Given the description of an element on the screen output the (x, y) to click on. 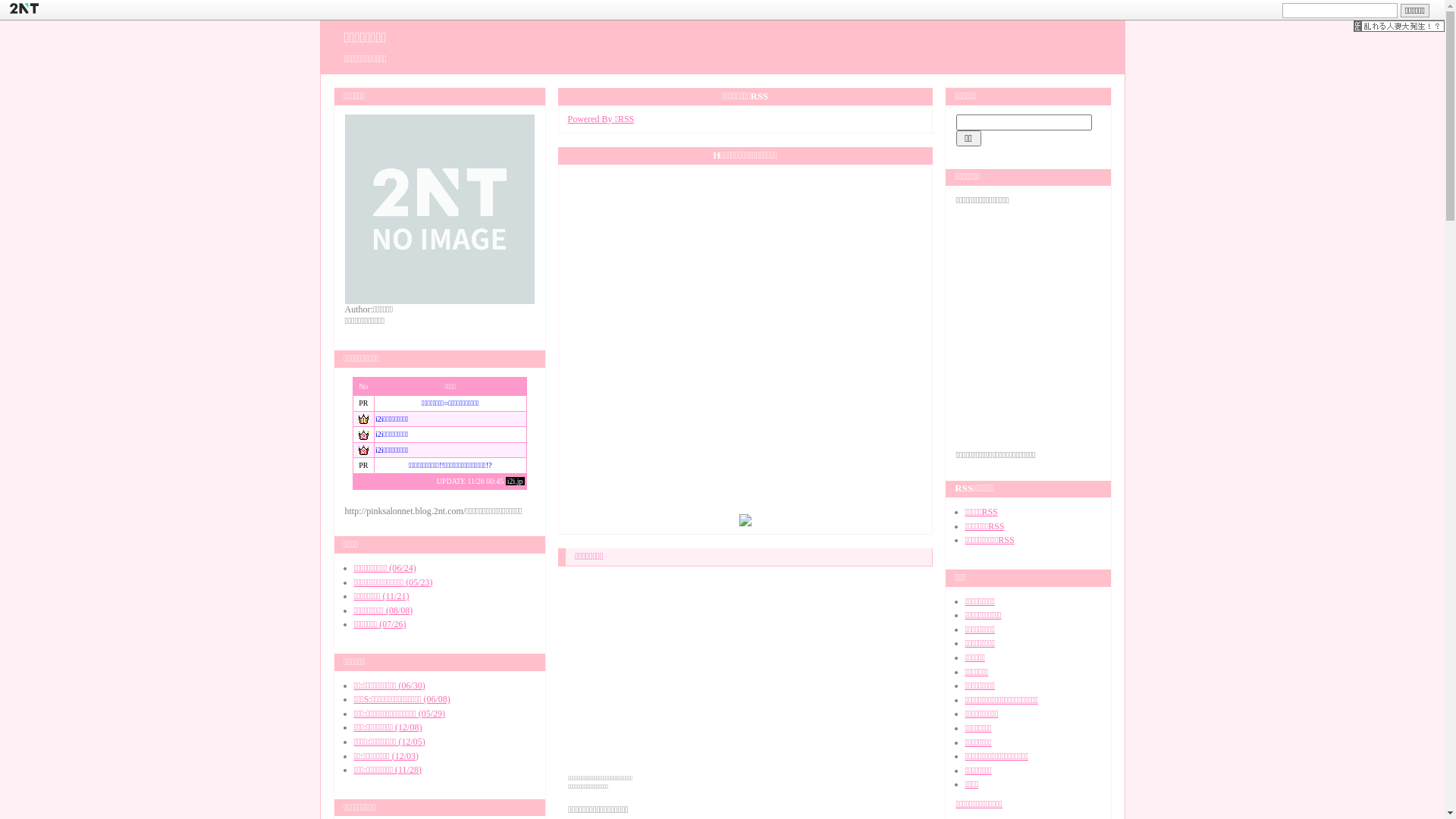
i2i.jp Element type: text (514, 480)
